Given the description of an element on the screen output the (x, y) to click on. 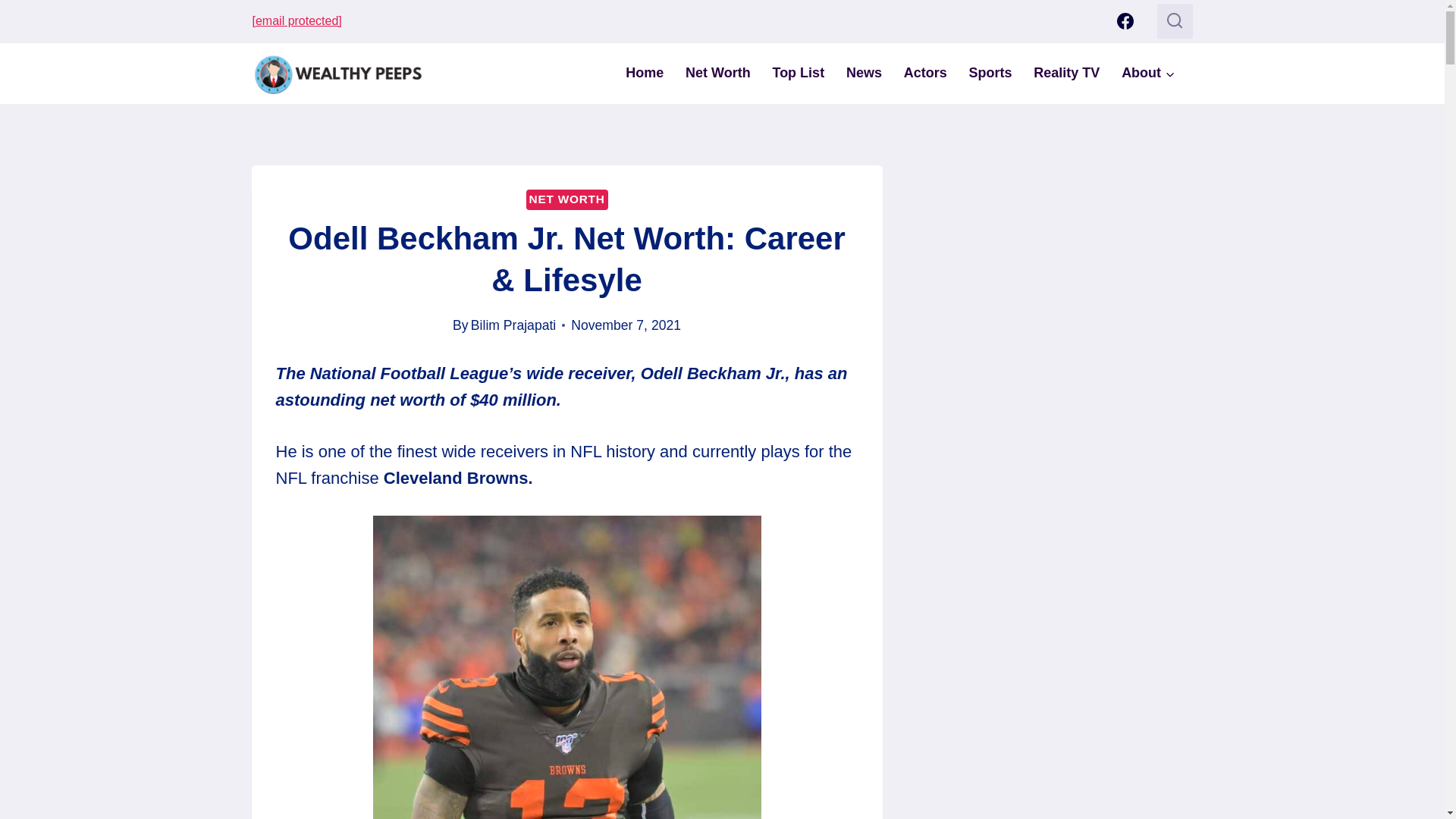
About (1148, 72)
News (864, 72)
Sports (990, 72)
Home (644, 72)
Top List (797, 72)
Reality TV (1066, 72)
Net Worth (718, 72)
Bilim Prajapati (513, 324)
Actors (925, 72)
NET WORTH (566, 199)
